Given the description of an element on the screen output the (x, y) to click on. 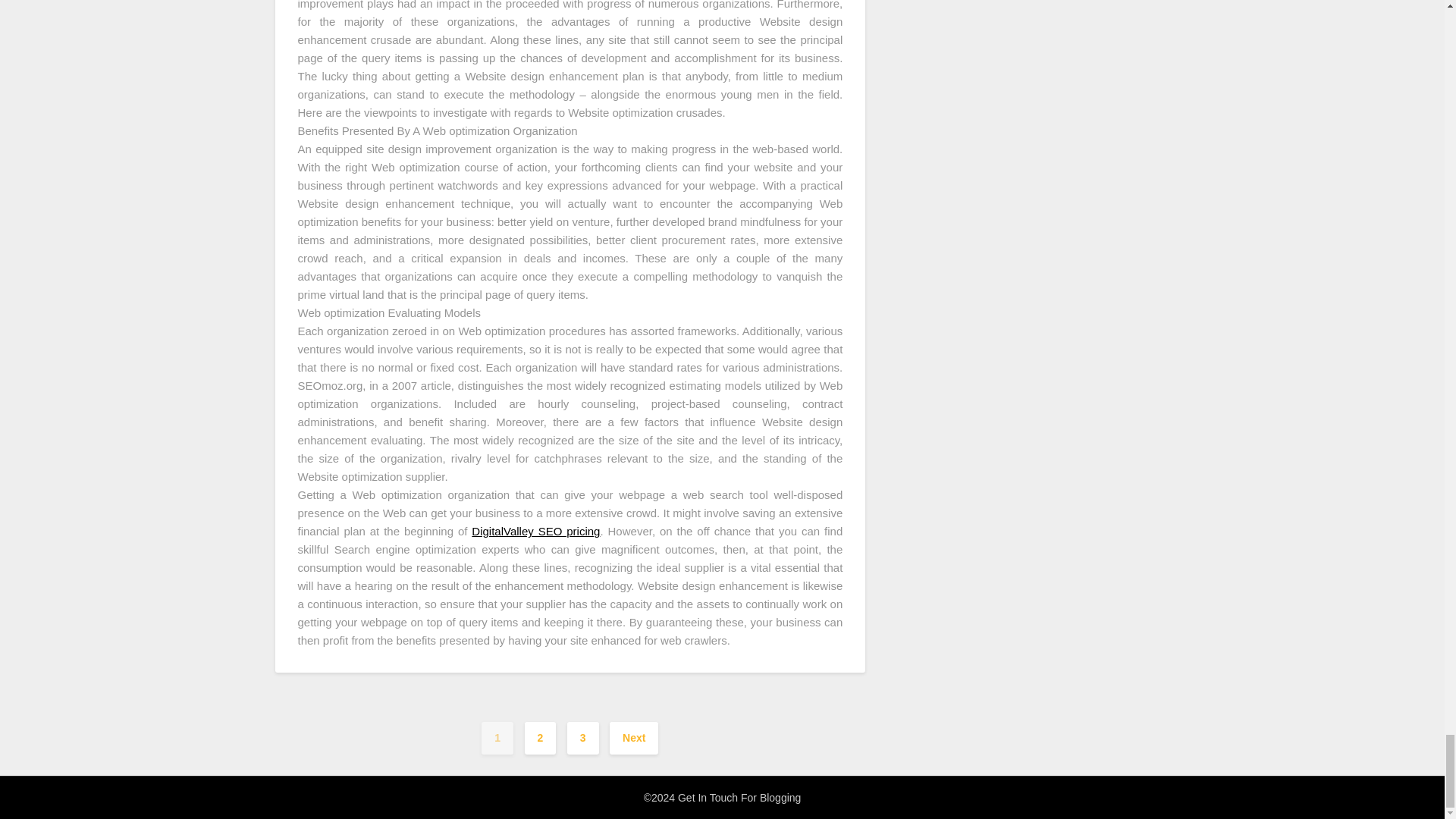
3 (582, 737)
DigitalValley SEO pricing (535, 530)
2 (540, 737)
